Given the description of an element on the screen output the (x, y) to click on. 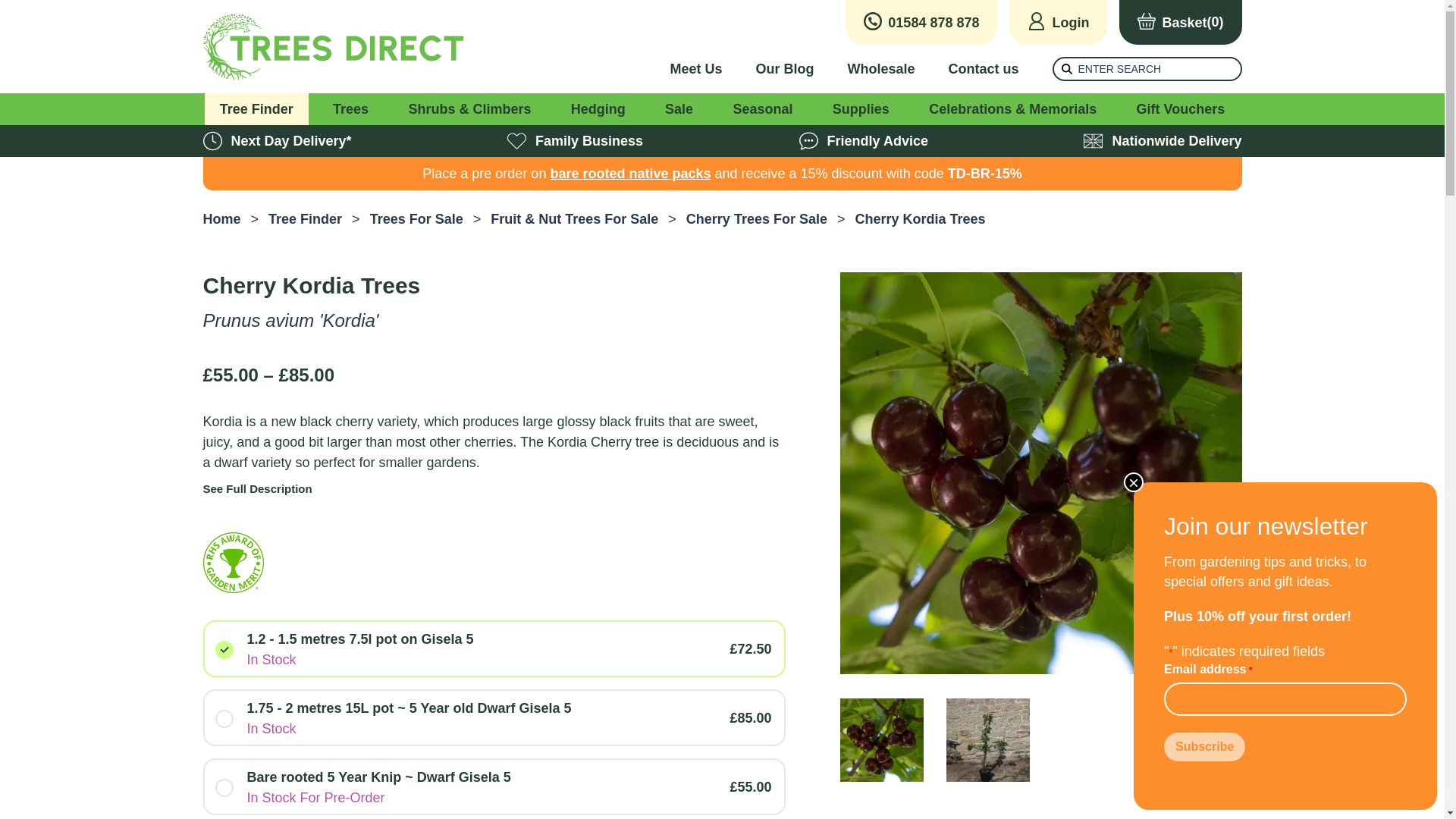
1-2-1-5-metres-7-5l-pot-on-gisela-5 (222, 648)
bare-rooted-5-year-knip-dwarf-gisela-5 (222, 787)
Meet Us (695, 68)
01584 878 878 (921, 22)
Subscribe (1203, 746)
Contact us (982, 68)
Login (1057, 22)
Our Blog (784, 68)
1-75-2-metres-15l-pot-5-year-old-dwarf-gisela-5 (222, 717)
Wholesale (880, 68)
